Given the description of an element on the screen output the (x, y) to click on. 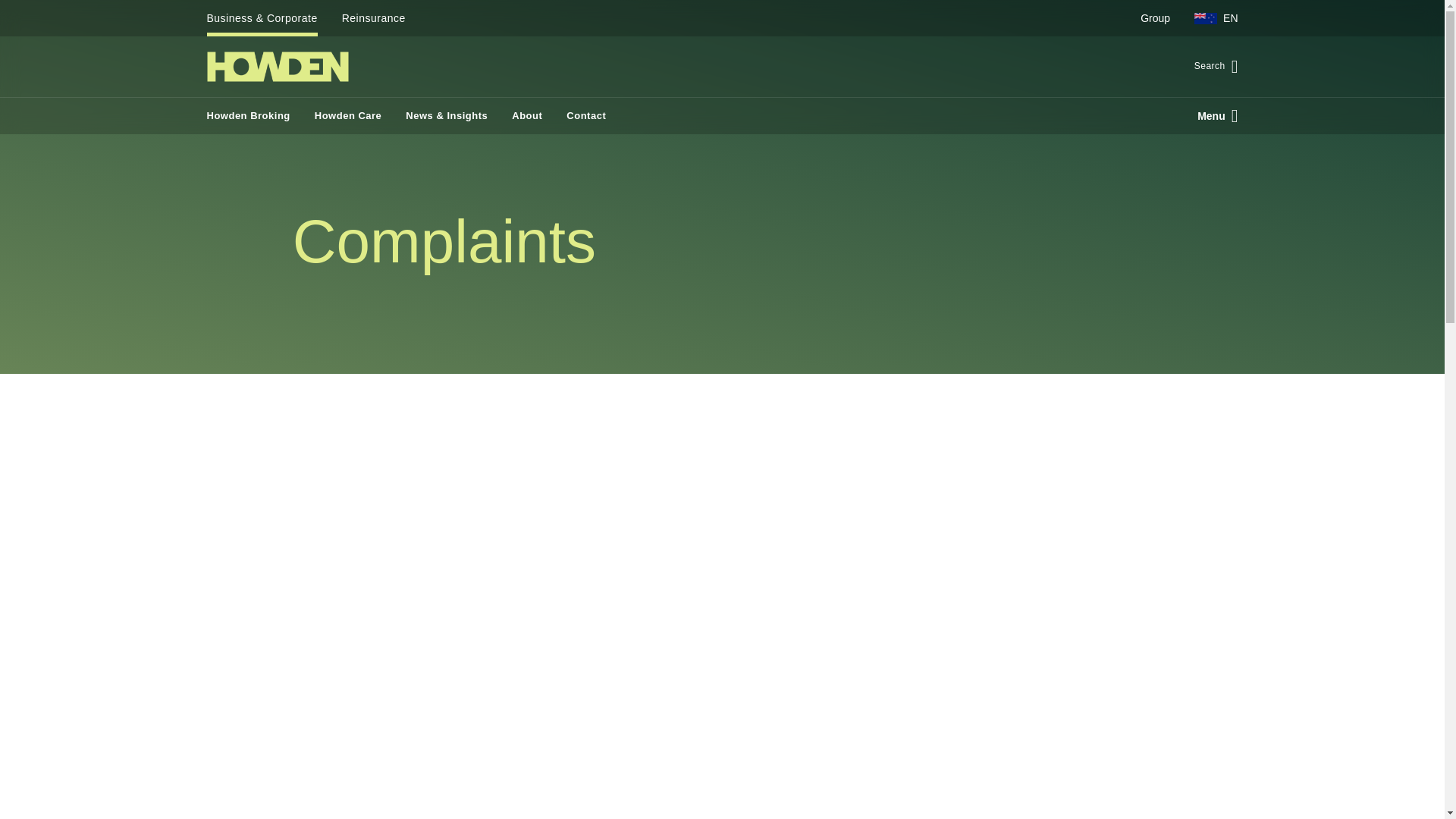
Group (1155, 18)
Search (1210, 66)
Reinsurance (373, 18)
Menu (1211, 115)
Howden Broking Group (276, 66)
EN (1209, 18)
